Given the description of an element on the screen output the (x, y) to click on. 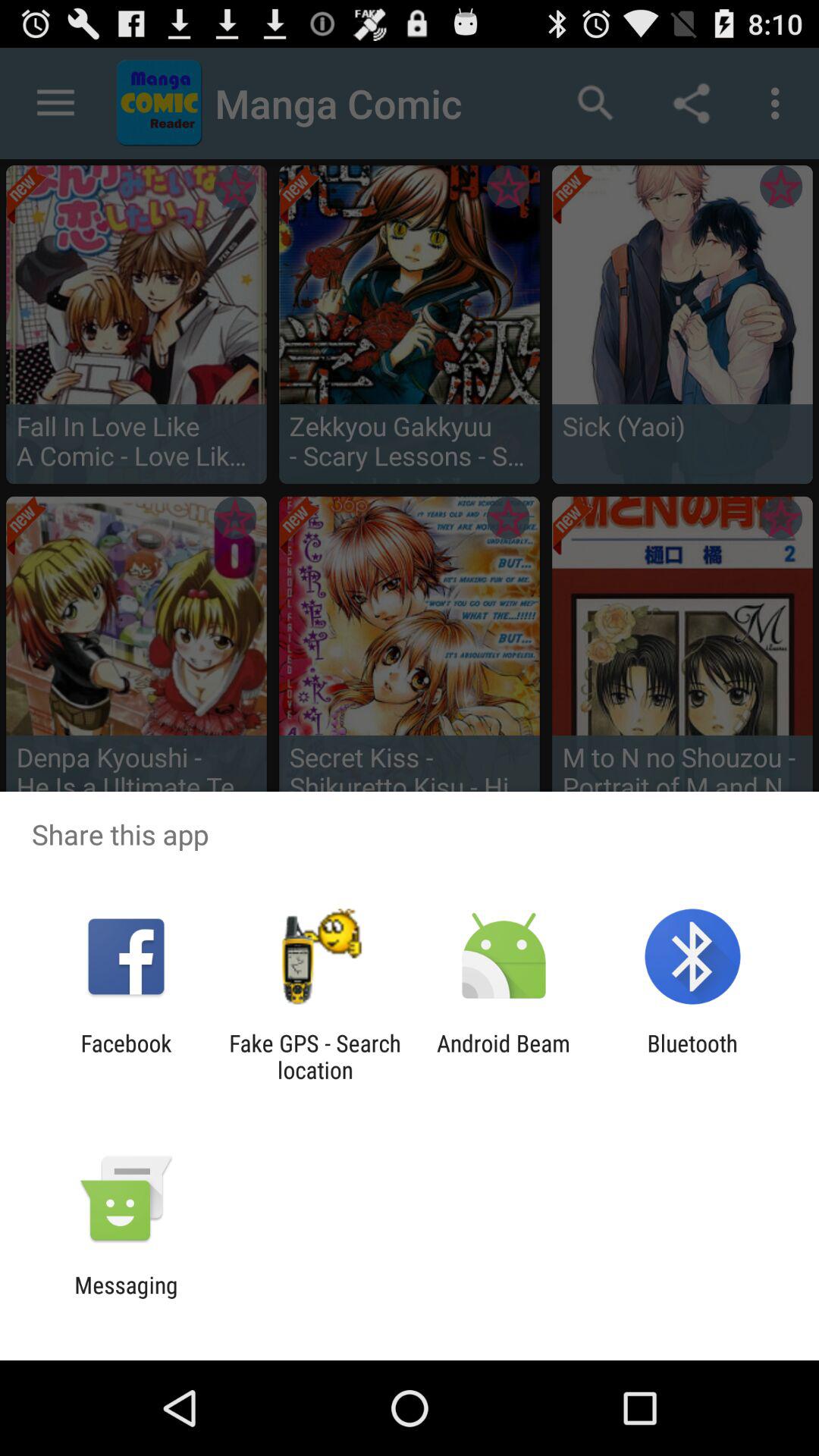
press icon to the right of the fake gps search icon (503, 1056)
